Given the description of an element on the screen output the (x, y) to click on. 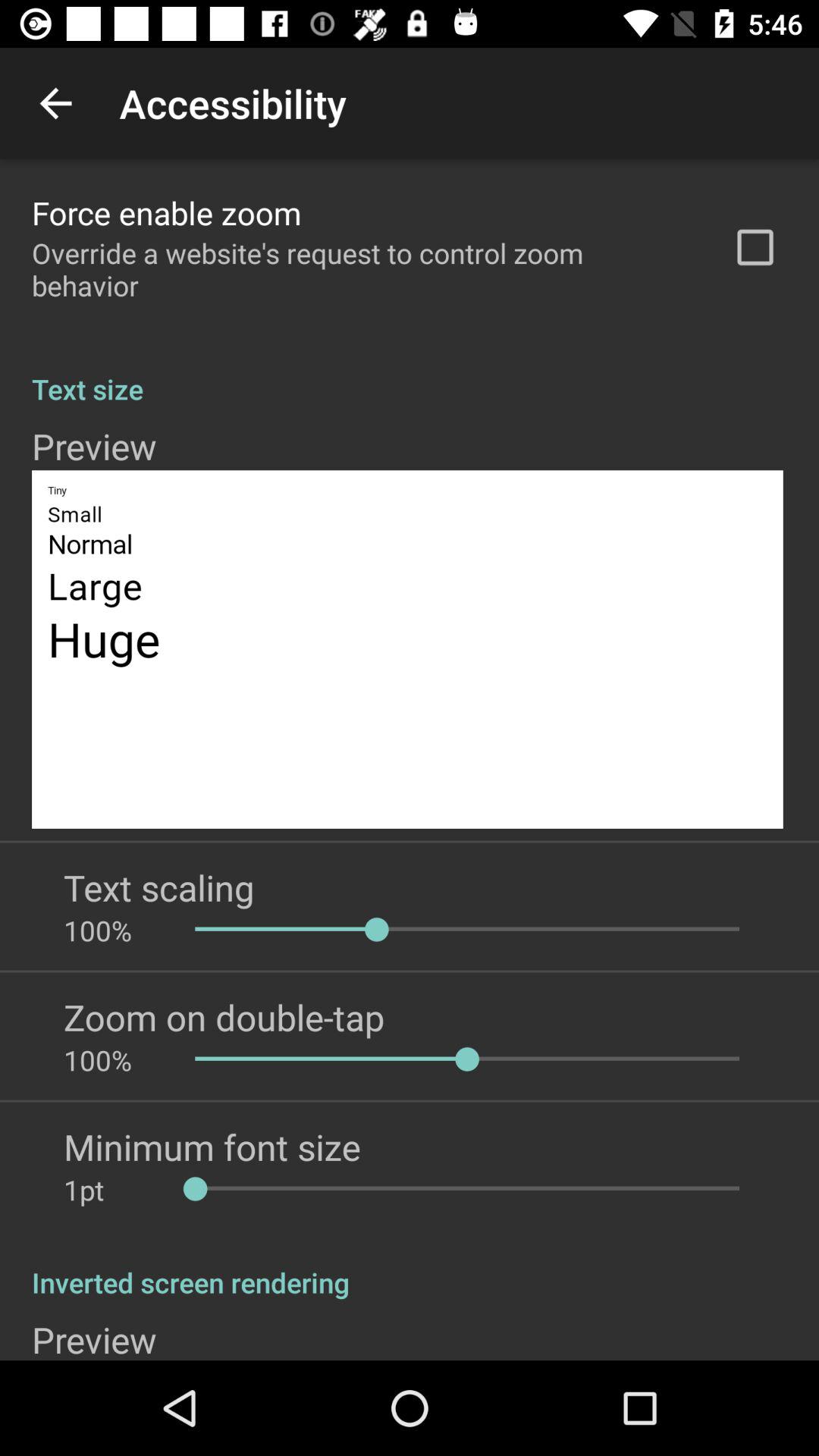
click the icon to the right of the override a website icon (755, 247)
